Given the description of an element on the screen output the (x, y) to click on. 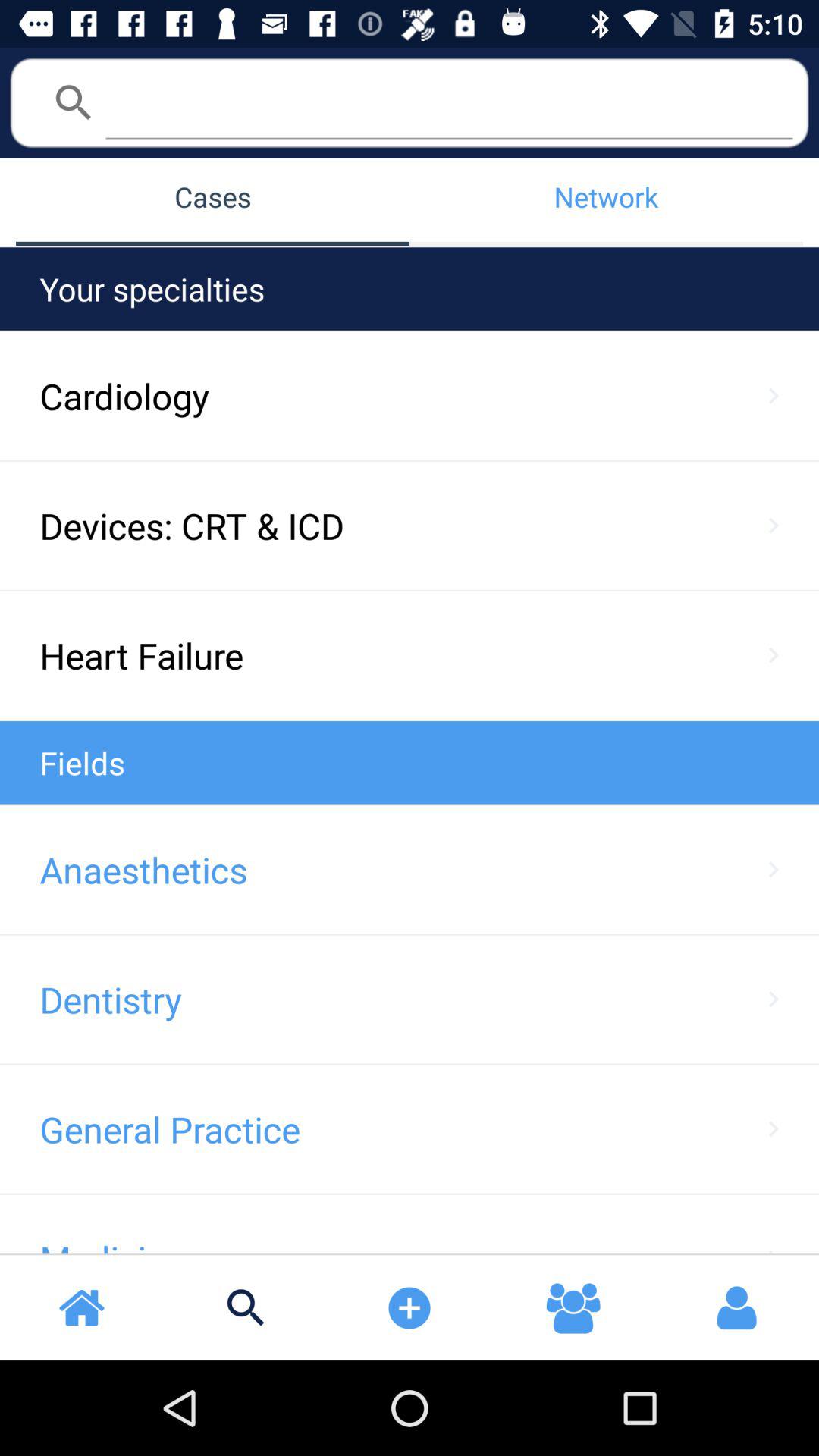
enter search term (448, 101)
